Given the description of an element on the screen output the (x, y) to click on. 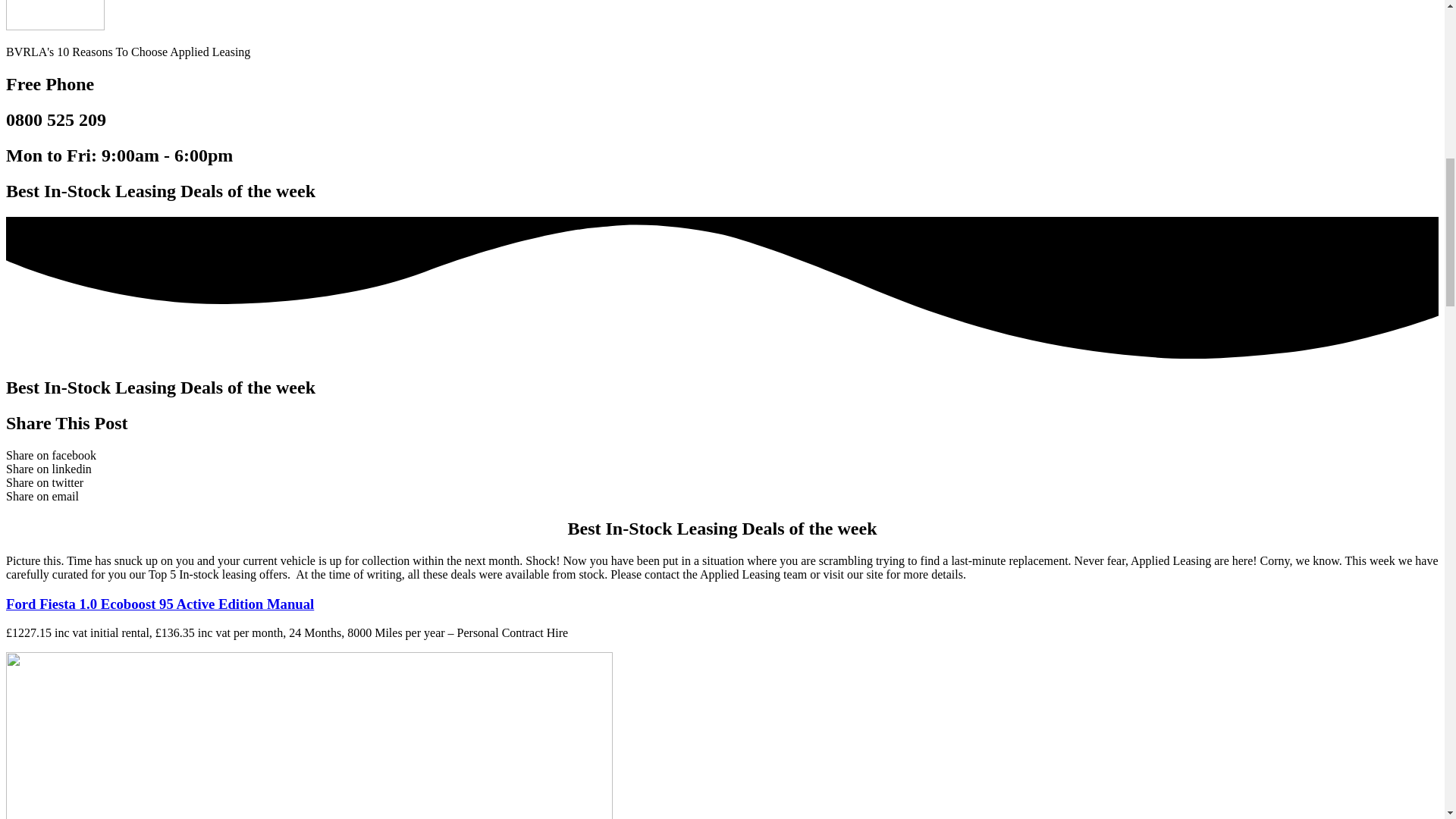
Ford Fiesta 1.0 Ecoboost 95 Active Edition Manual (159, 603)
